Given the description of an element on the screen output the (x, y) to click on. 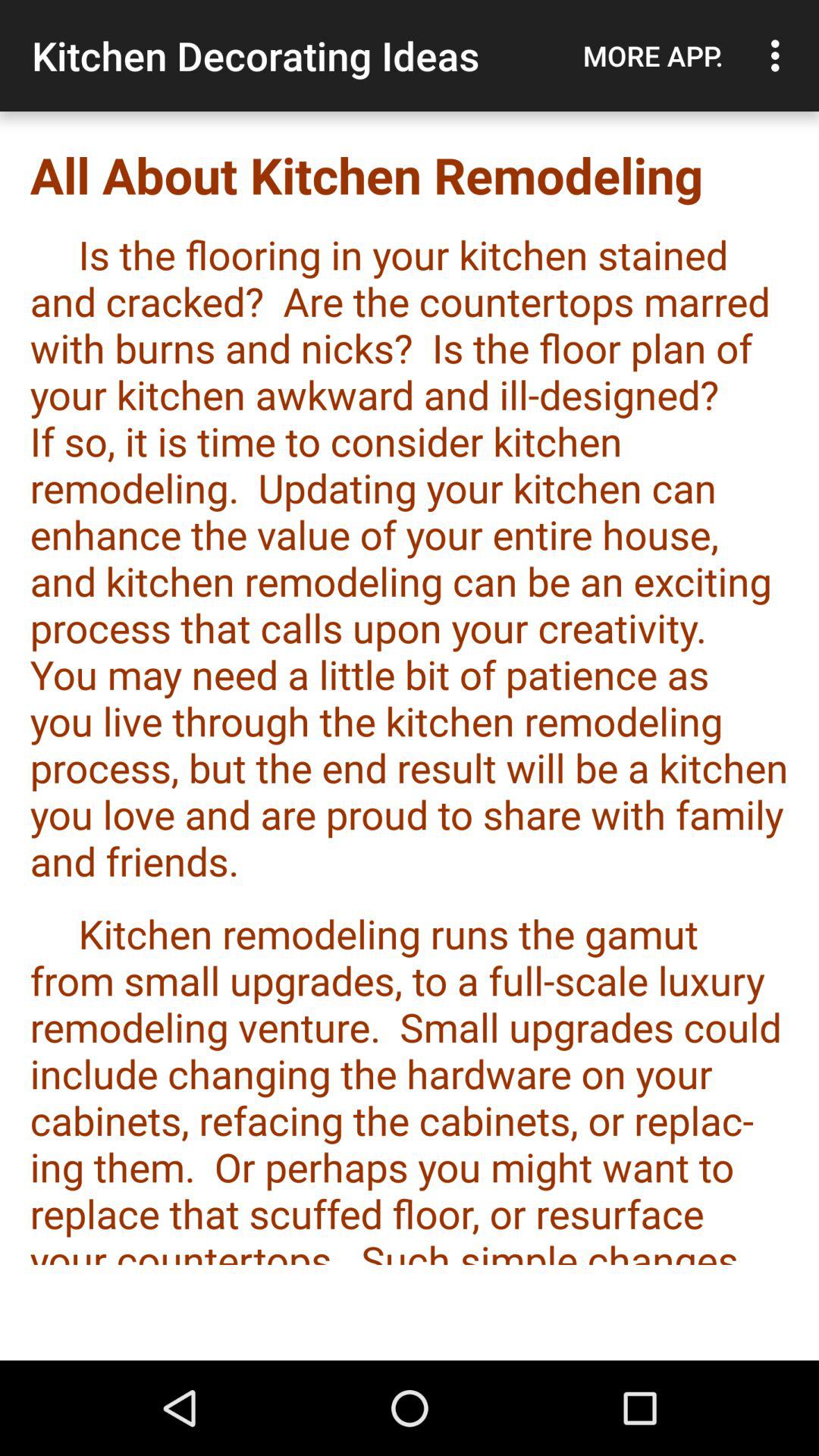
turn on icon to the right of the more app. icon (779, 55)
